Given the description of an element on the screen output the (x, y) to click on. 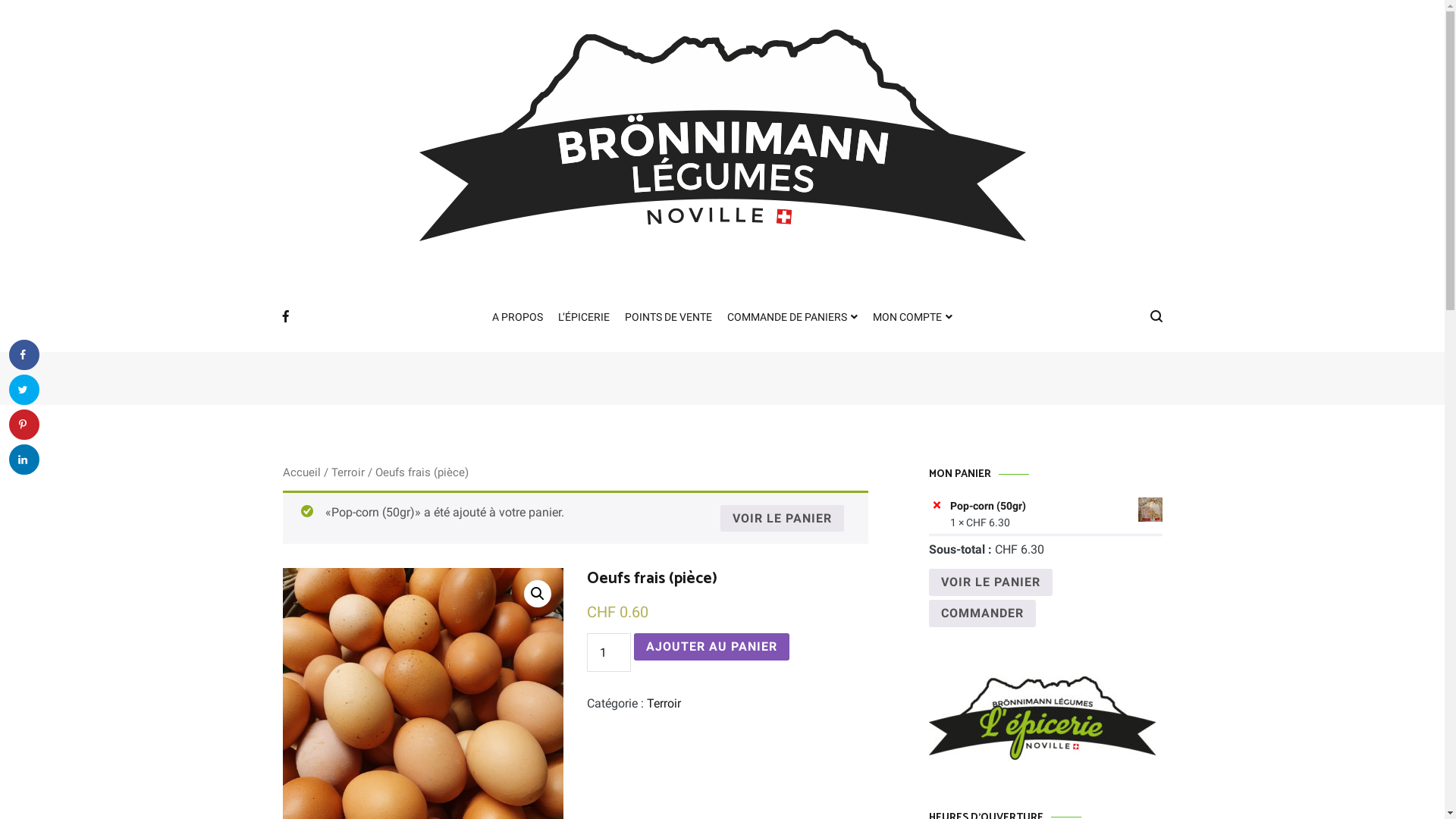
Share on LinkedIn Element type: hover (24, 459)
Terroir Element type: text (663, 703)
Pop-corn (50gr) Element type: text (1055, 505)
Accueil Element type: text (301, 472)
AJOUTER AU PANIER Element type: text (711, 646)
Terroir Element type: text (347, 472)
COMMANDER Element type: text (981, 613)
Rechercher Element type: text (56, 16)
VOIR LE PANIER Element type: text (989, 582)
A PROPOS Element type: text (517, 317)
Share on Twitter Element type: hover (24, 389)
Share on Facebook Element type: hover (24, 354)
POINTS DE VENTE Element type: text (668, 317)
COMMANDE DE PANIERS Element type: text (792, 317)
VOIR LE PANIER Element type: text (782, 518)
MON COMPTE Element type: text (912, 317)
Save to Pinterest Element type: hover (24, 424)
